Given the description of an element on the screen output the (x, y) to click on. 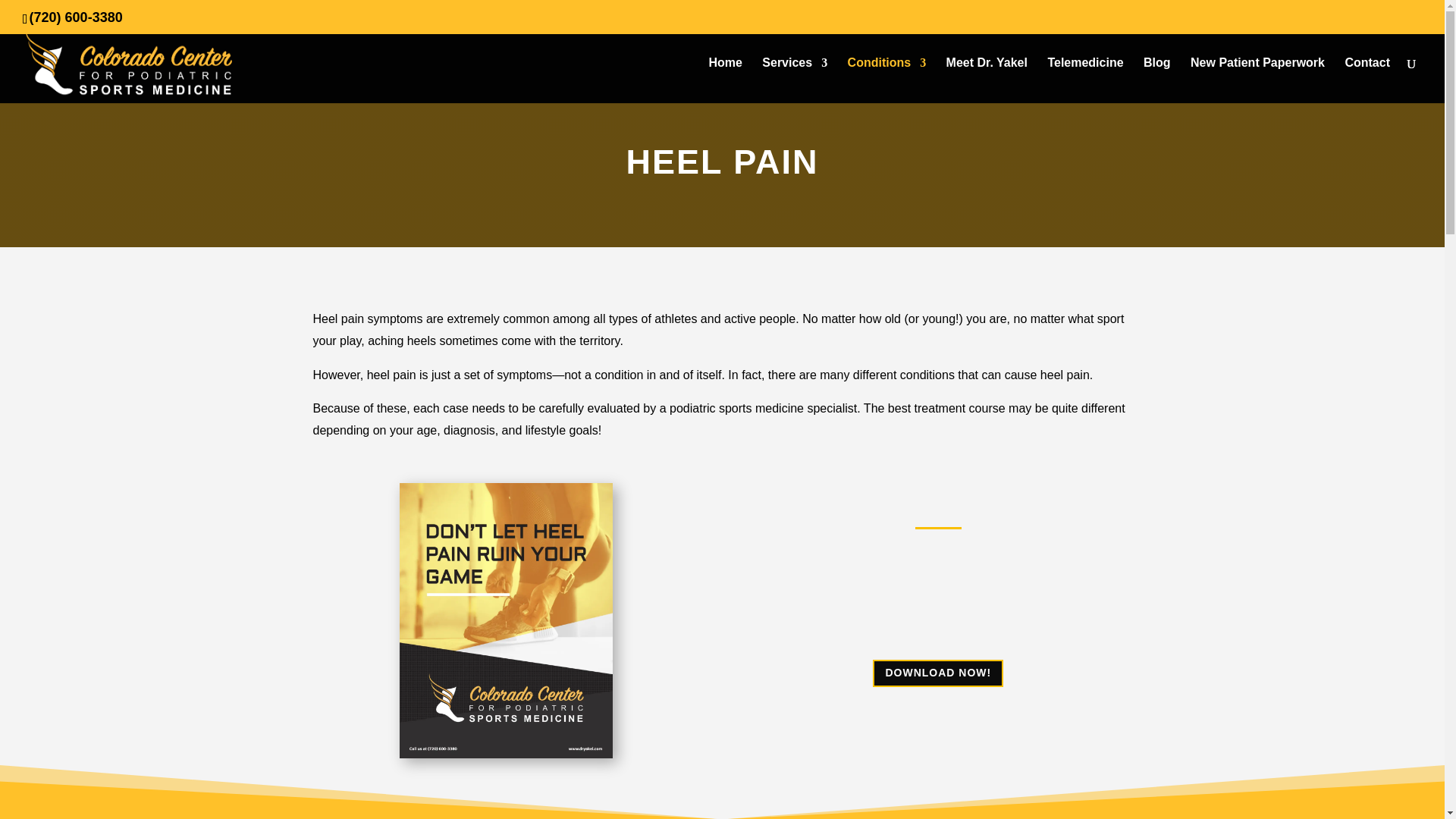
Meet Dr. Yakel (986, 80)
Contact (1366, 80)
Conditions (886, 80)
Services (794, 80)
Telemedicine (1084, 80)
New Patient Paperwork (1257, 80)
DOWNLOAD NOW! (937, 673)
